Given the description of an element on the screen output the (x, y) to click on. 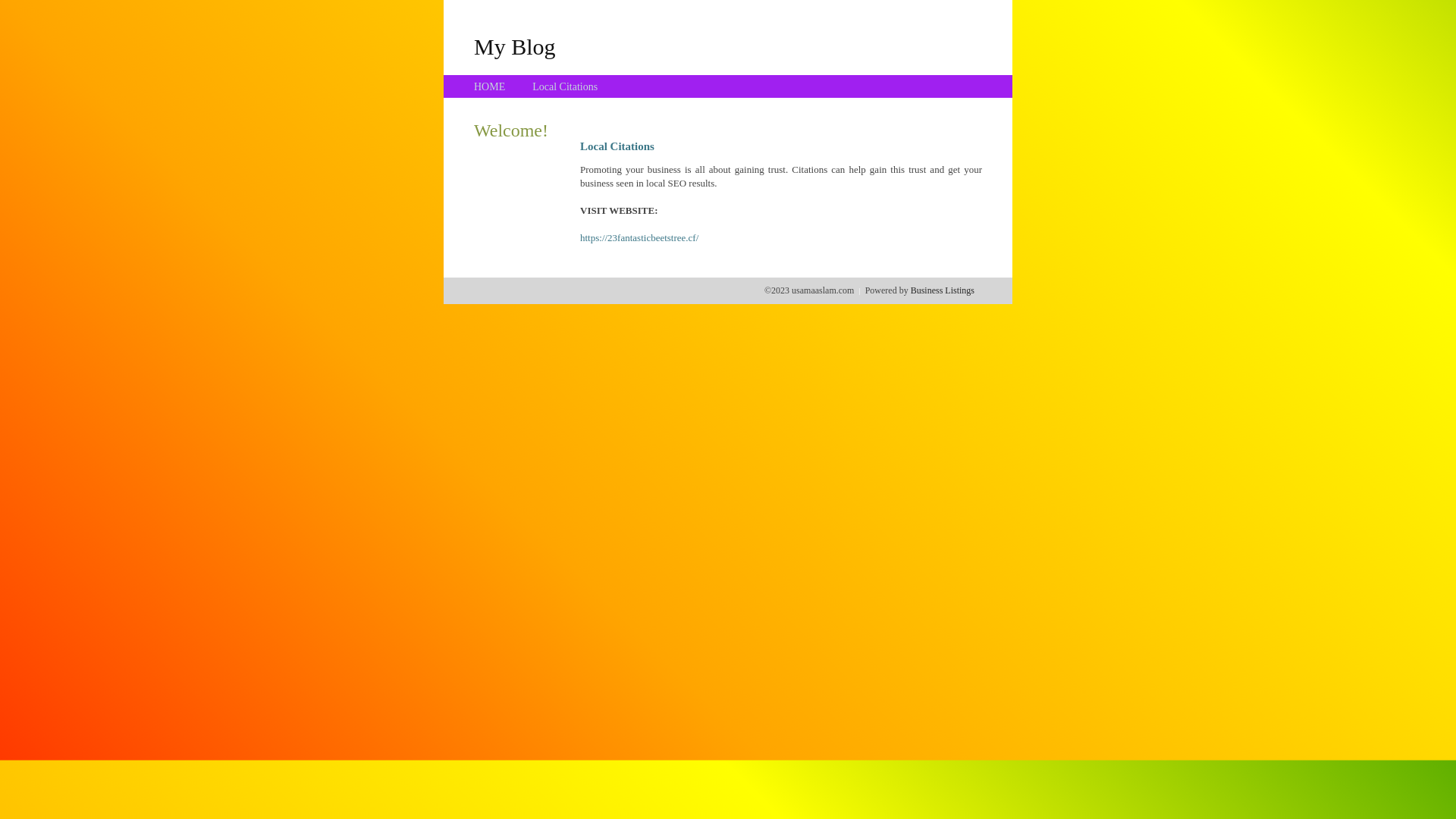
Business Listings Element type: text (942, 290)
My Blog Element type: text (514, 46)
https://23fantasticbeetstree.cf/ Element type: text (639, 237)
HOME Element type: text (489, 86)
Local Citations Element type: text (564, 86)
